Given the description of an element on the screen output the (x, y) to click on. 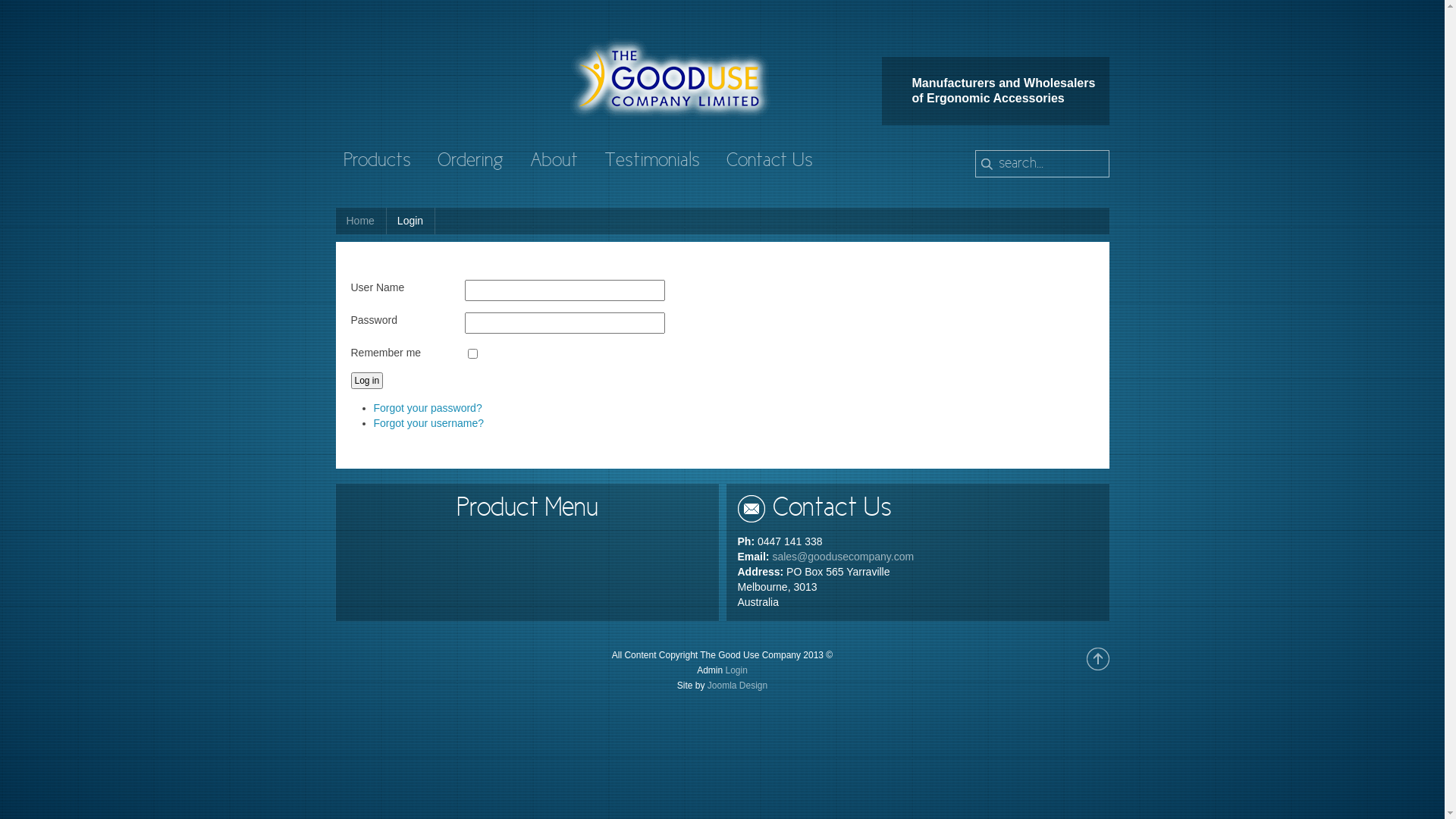
Ordering Element type: text (469, 161)
Products Element type: text (376, 161)
About Element type: text (552, 161)
Forgot your username? Element type: text (428, 423)
Joomla Design Element type: text (737, 685)
Testimonials Element type: text (651, 161)
Log in Element type: text (366, 380)
Reset Element type: text (3, 3)
sales@goodusecompany.com Element type: text (842, 556)
Forgot your password? Element type: text (427, 407)
Home Element type: text (360, 220)
Contact Us Element type: text (769, 161)
Login Element type: text (735, 670)
